Given the description of an element on the screen output the (x, y) to click on. 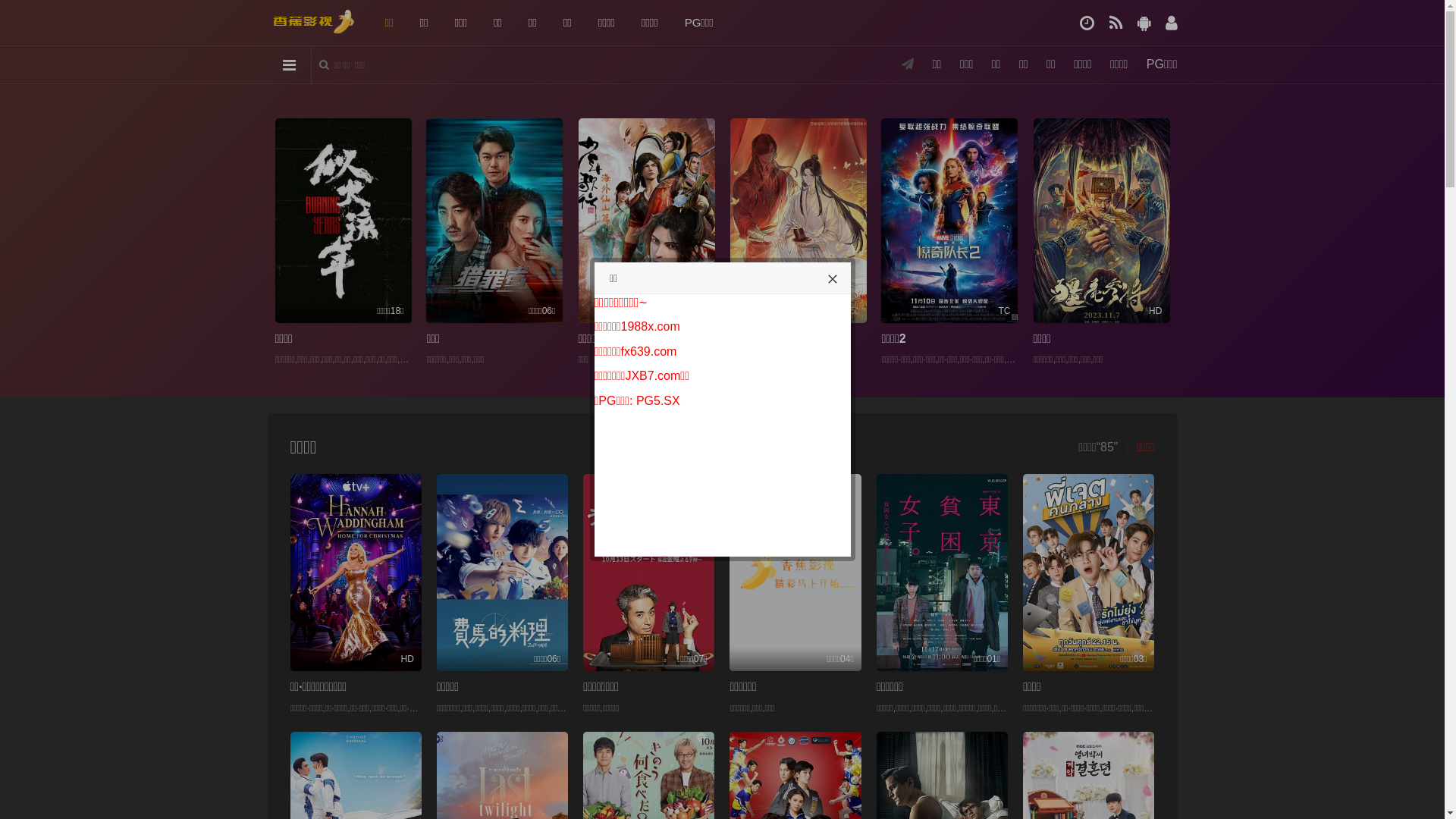
1988x.com Element type: text (650, 326)
PG5.SX Element type: text (658, 400)
HD Element type: text (354, 572)
fx639.com Element type: text (649, 351)
JXB7.com Element type: text (652, 375)
